Given the description of an element on the screen output the (x, y) to click on. 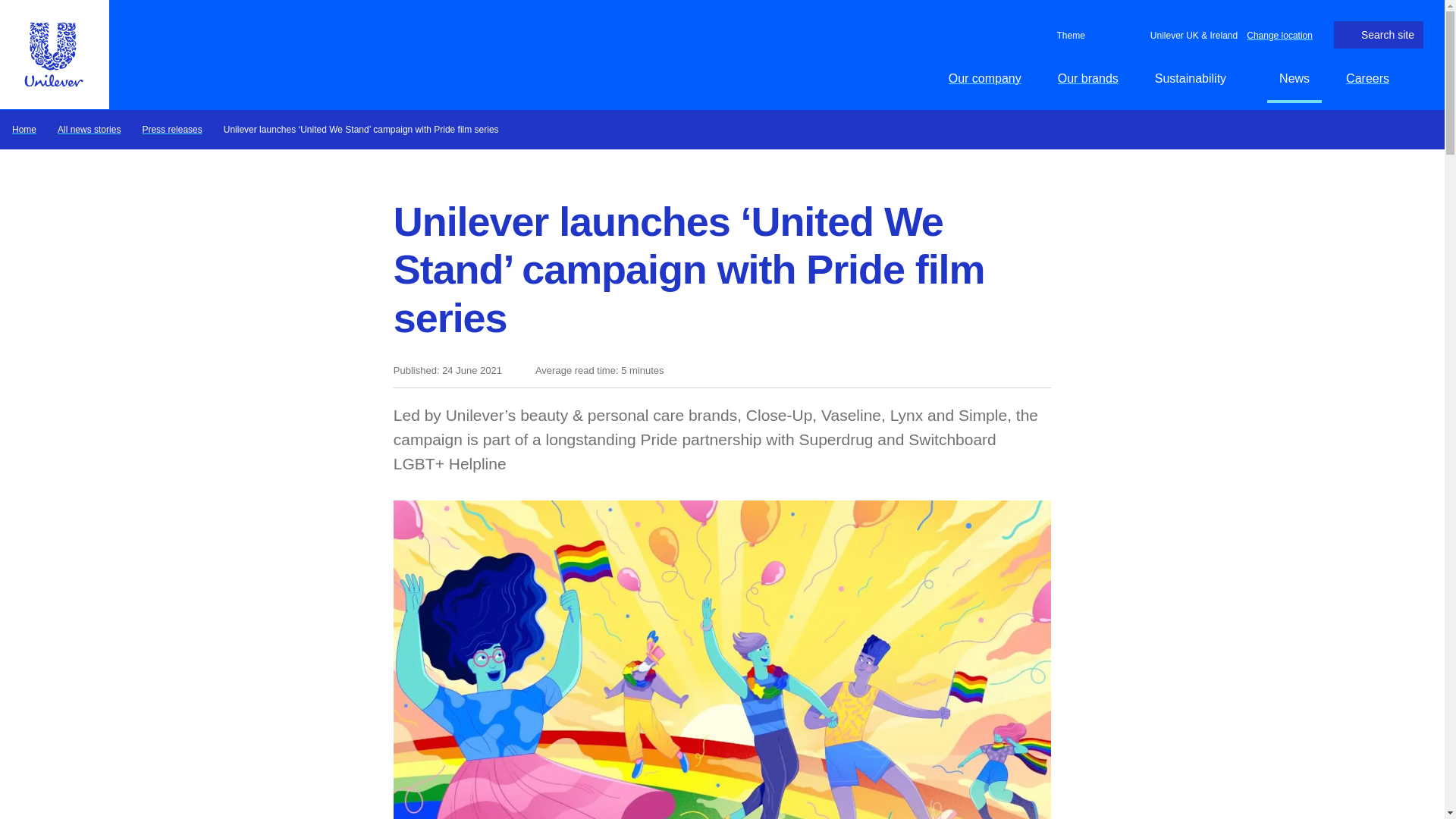
Our company (984, 78)
Our brands (1088, 78)
Search site (1378, 34)
Change location (1279, 34)
Sustainability (1198, 78)
Theme (1067, 35)
Home (23, 129)
All news stories (89, 129)
Press releases (171, 129)
News (1294, 78)
